Given the description of an element on the screen output the (x, y) to click on. 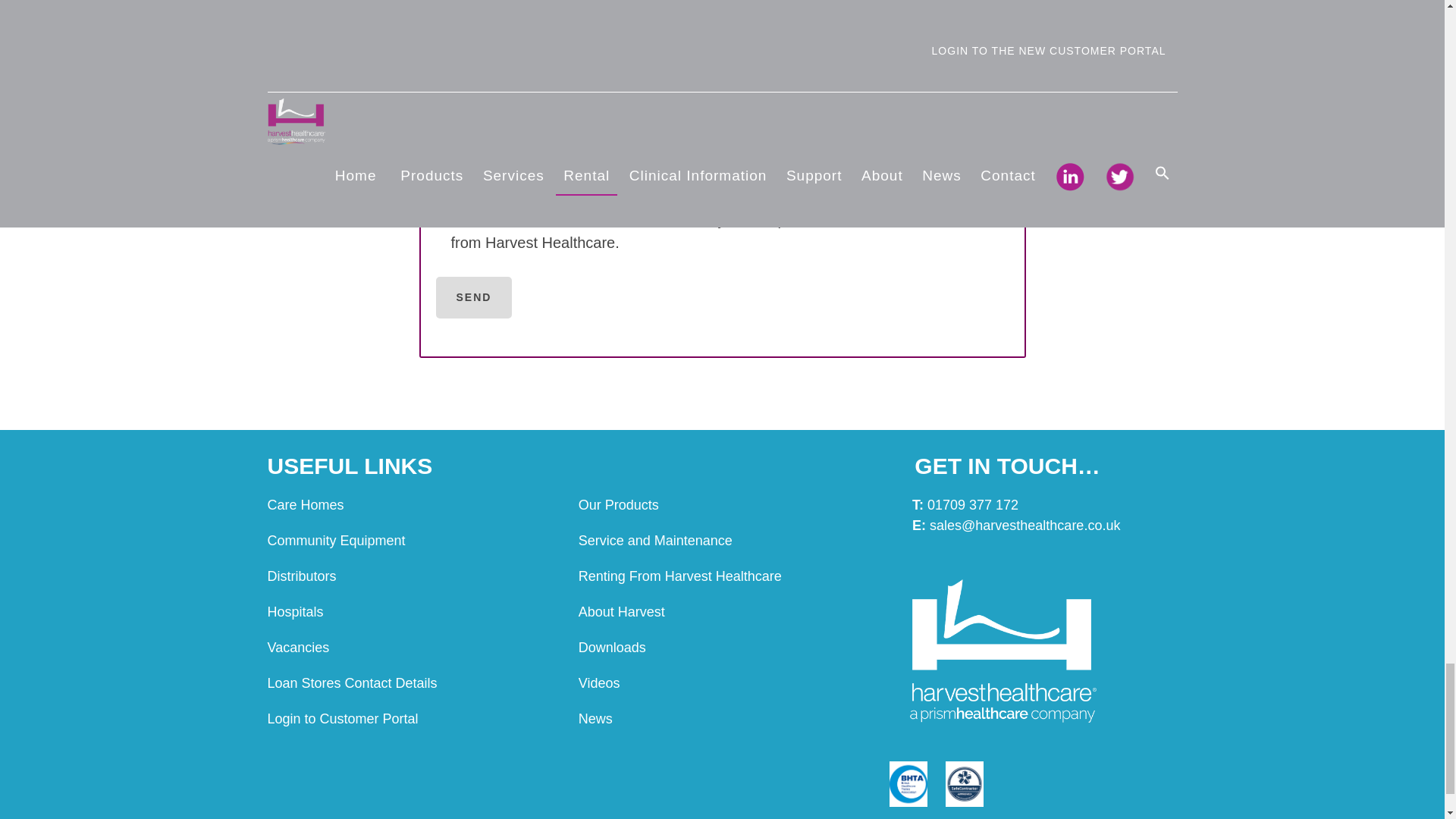
Send (473, 297)
